Given the description of an element on the screen output the (x, y) to click on. 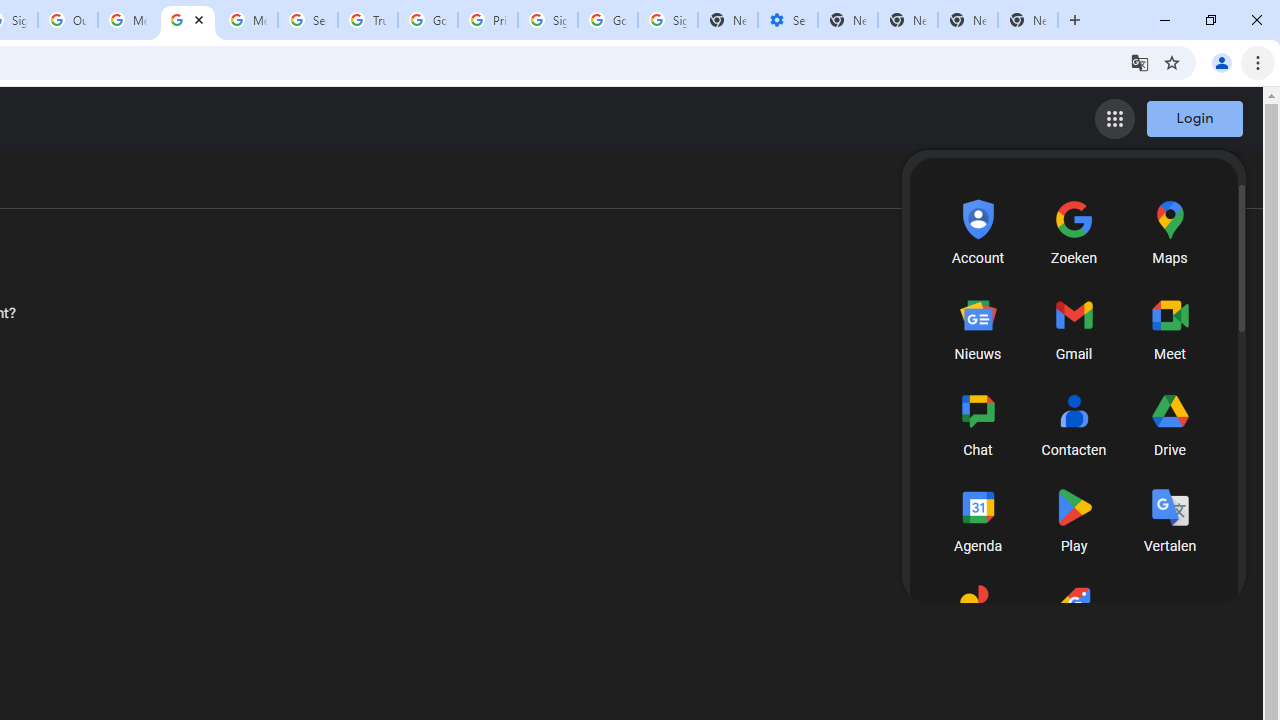
Login (1194, 118)
Google Ads - Sign in (428, 20)
Settings - Performance (787, 20)
Google Account (Opens in new window) (1173, 183)
